Given the description of an element on the screen output the (x, y) to click on. 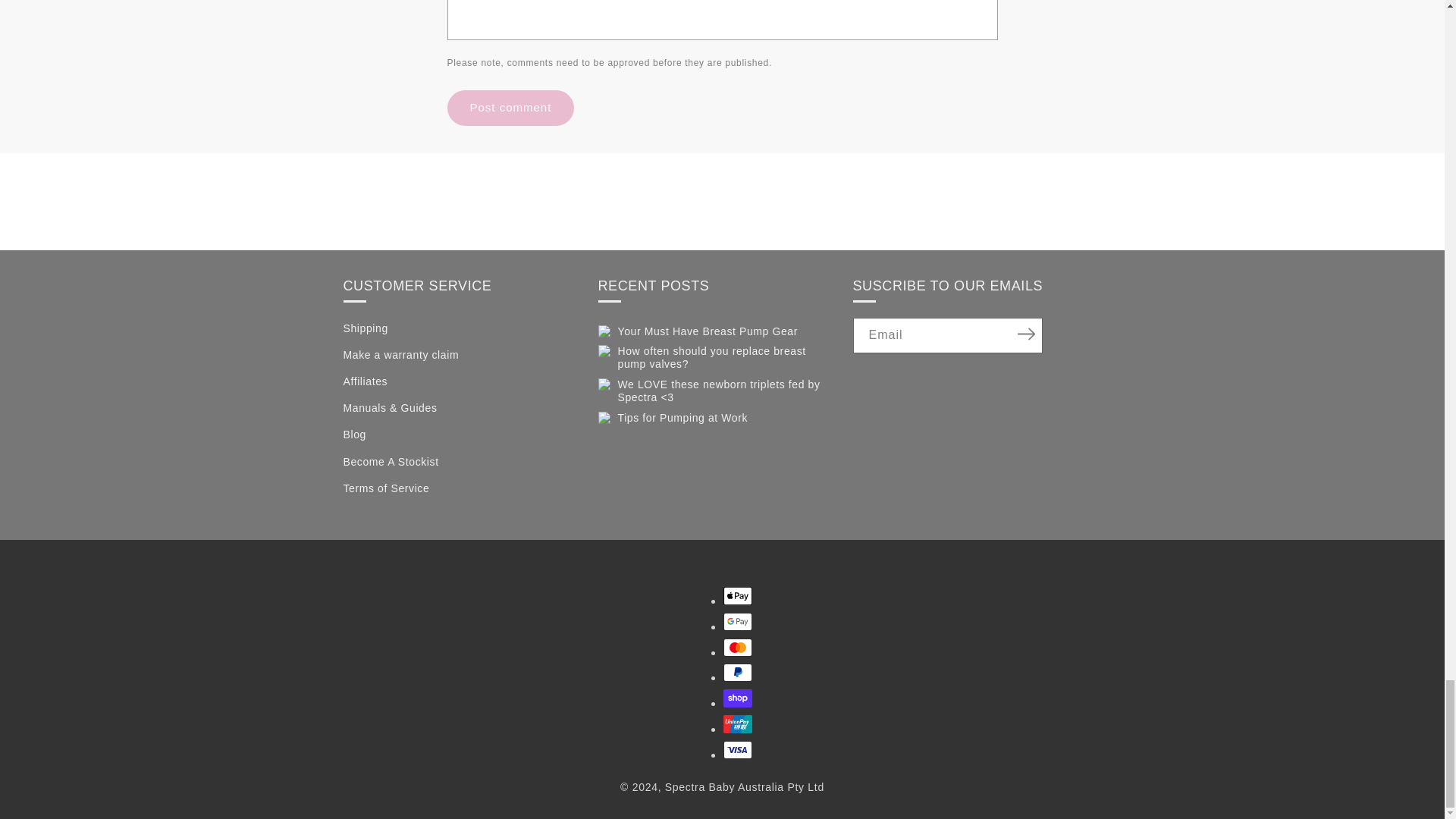
Post comment (510, 108)
Visa (737, 750)
Mastercard (737, 647)
PayPal (737, 672)
Union Pay (737, 723)
Apple Pay (737, 596)
Google Pay (737, 621)
Shop Pay (737, 698)
